Given the description of an element on the screen output the (x, y) to click on. 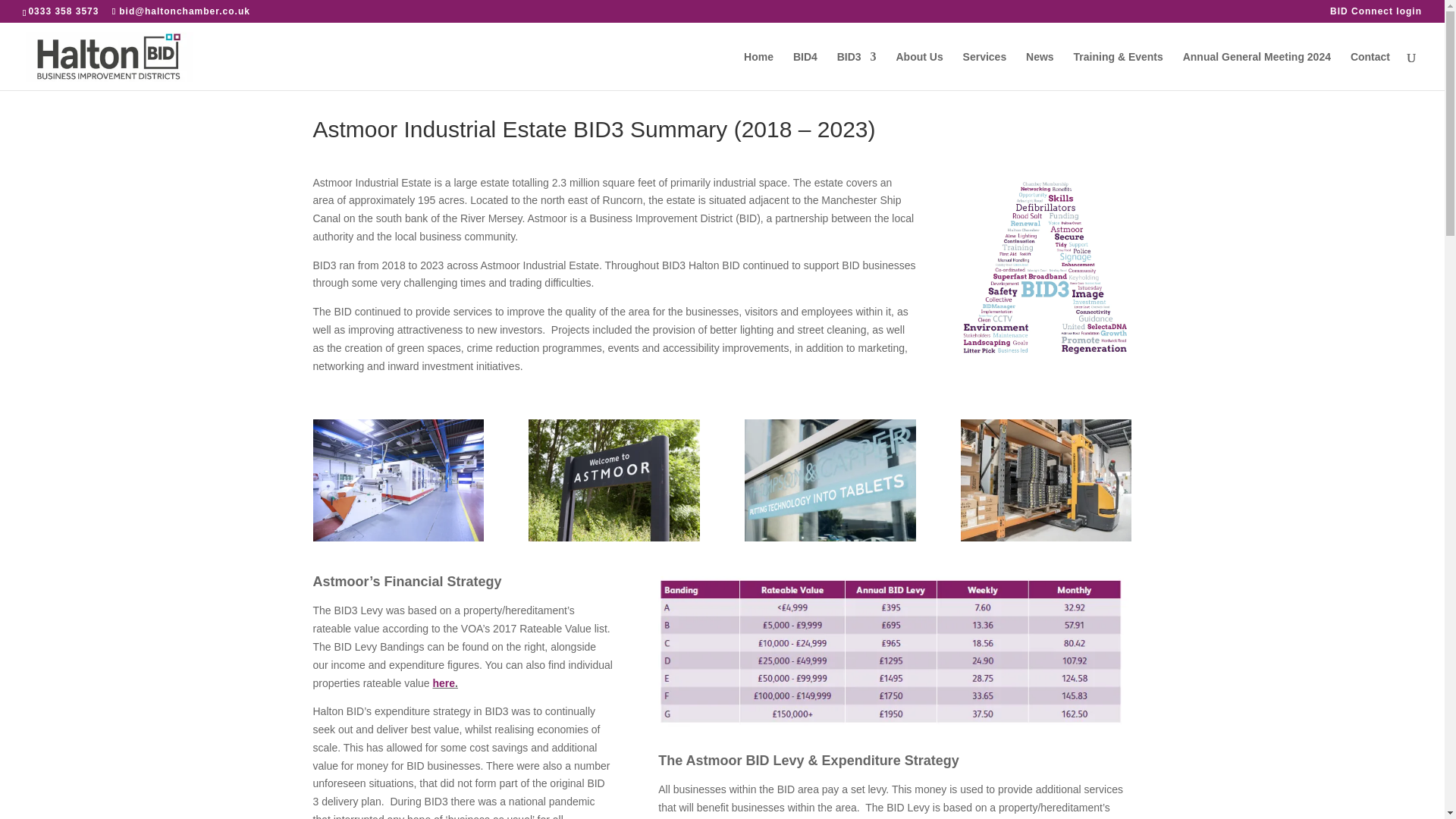
Services (984, 70)
astmoor1 (398, 537)
here (443, 682)
astmoor3 (829, 537)
BID3 (856, 70)
About Us (918, 70)
astmoor2 (613, 537)
Annual General Meeting 2024 (1256, 70)
Contact (1370, 70)
BID Connect login (1376, 14)
